Given the description of an element on the screen output the (x, y) to click on. 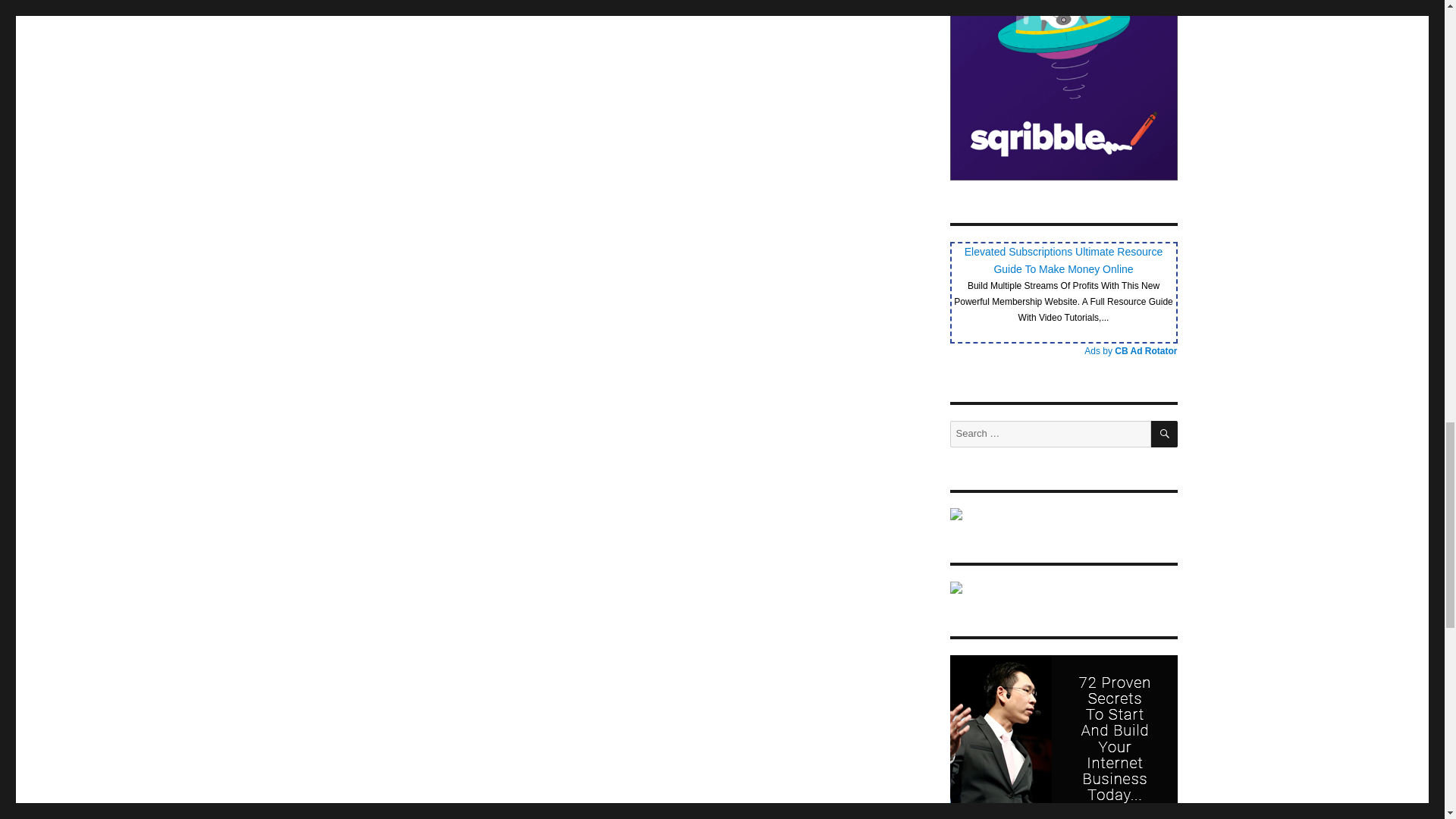
Ads by CB Ad Rotator (1130, 350)
SEARCH (1164, 433)
